Given the description of an element on the screen output the (x, y) to click on. 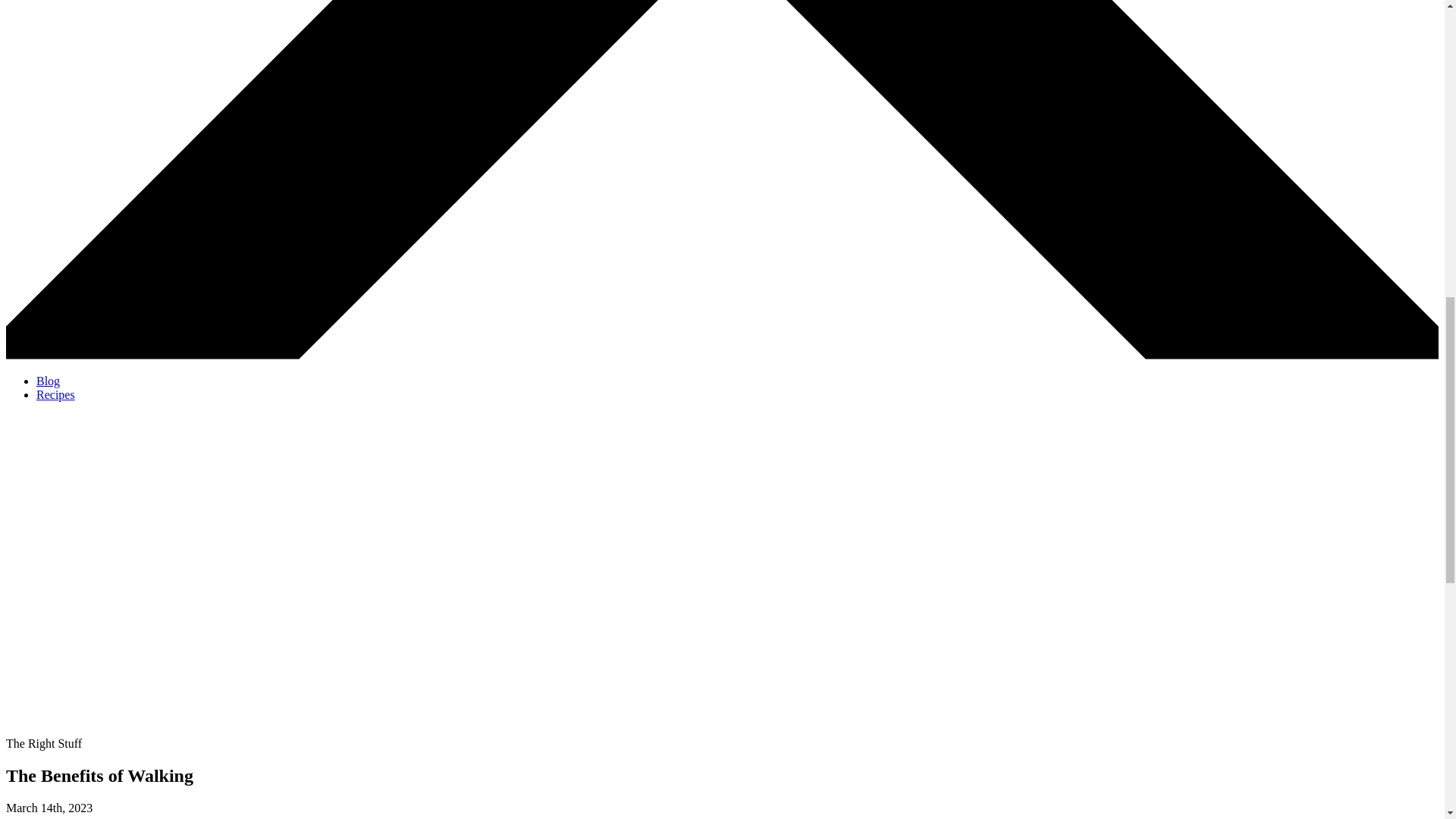
Blog (47, 380)
Recipes (55, 394)
